Given the description of an element on the screen output the (x, y) to click on. 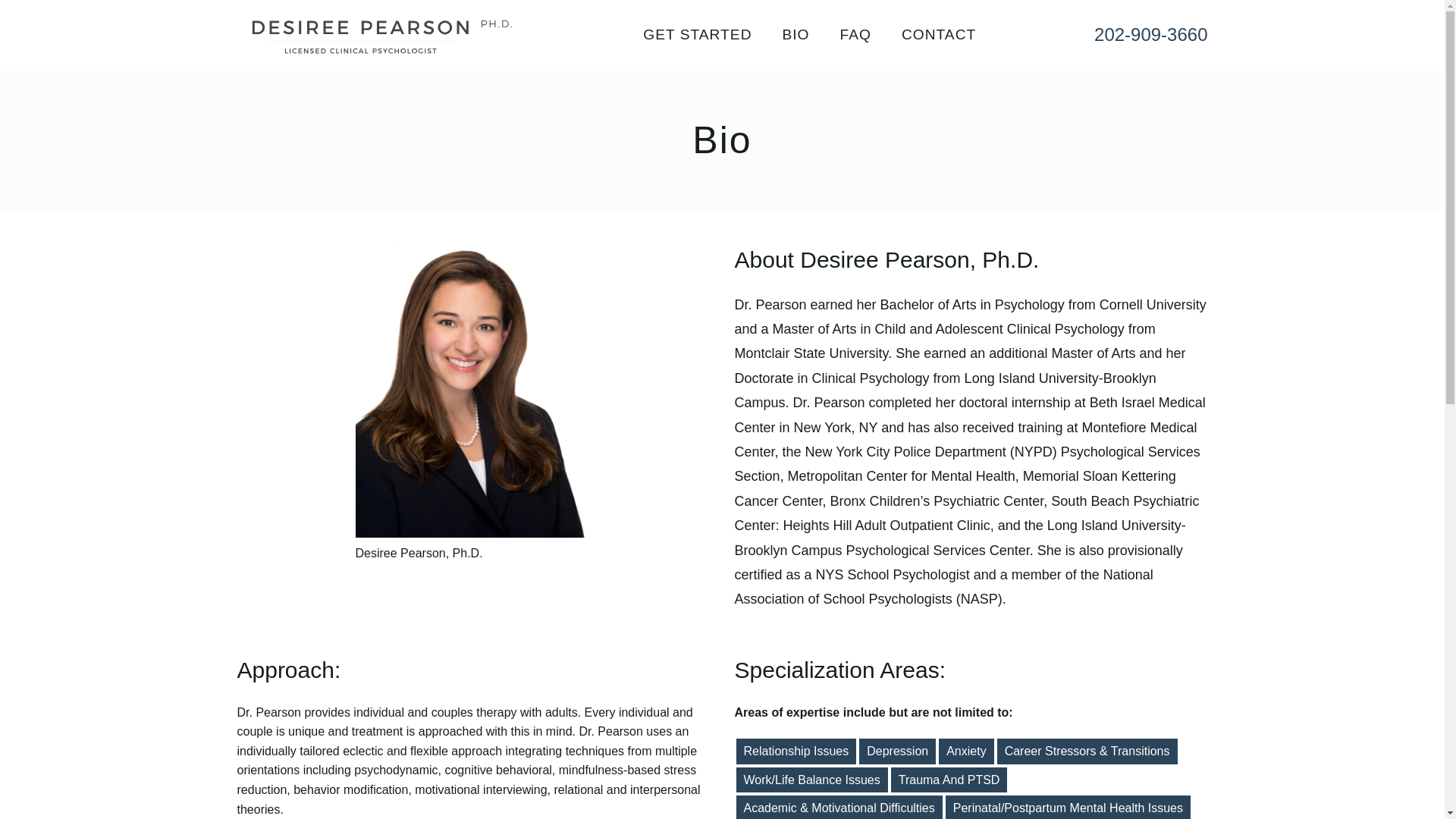
CONTACT (938, 34)
BIO (795, 34)
202-909-3660 (1150, 34)
GET STARTED (697, 34)
FAQ (855, 34)
